Given the description of an element on the screen output the (x, y) to click on. 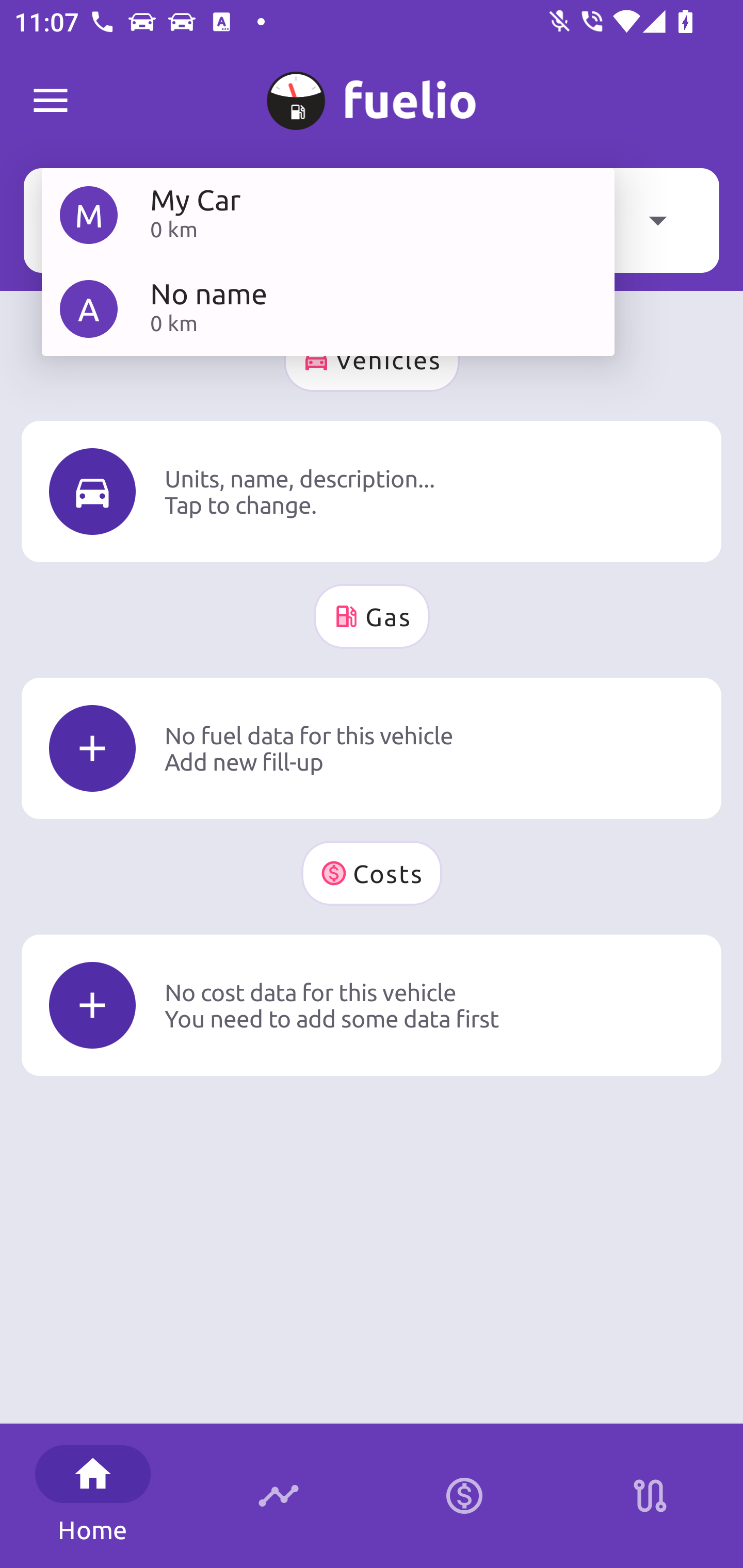
M My Car 0 km (327, 214)
A No name 0 km (327, 308)
